Given the description of an element on the screen output the (x, y) to click on. 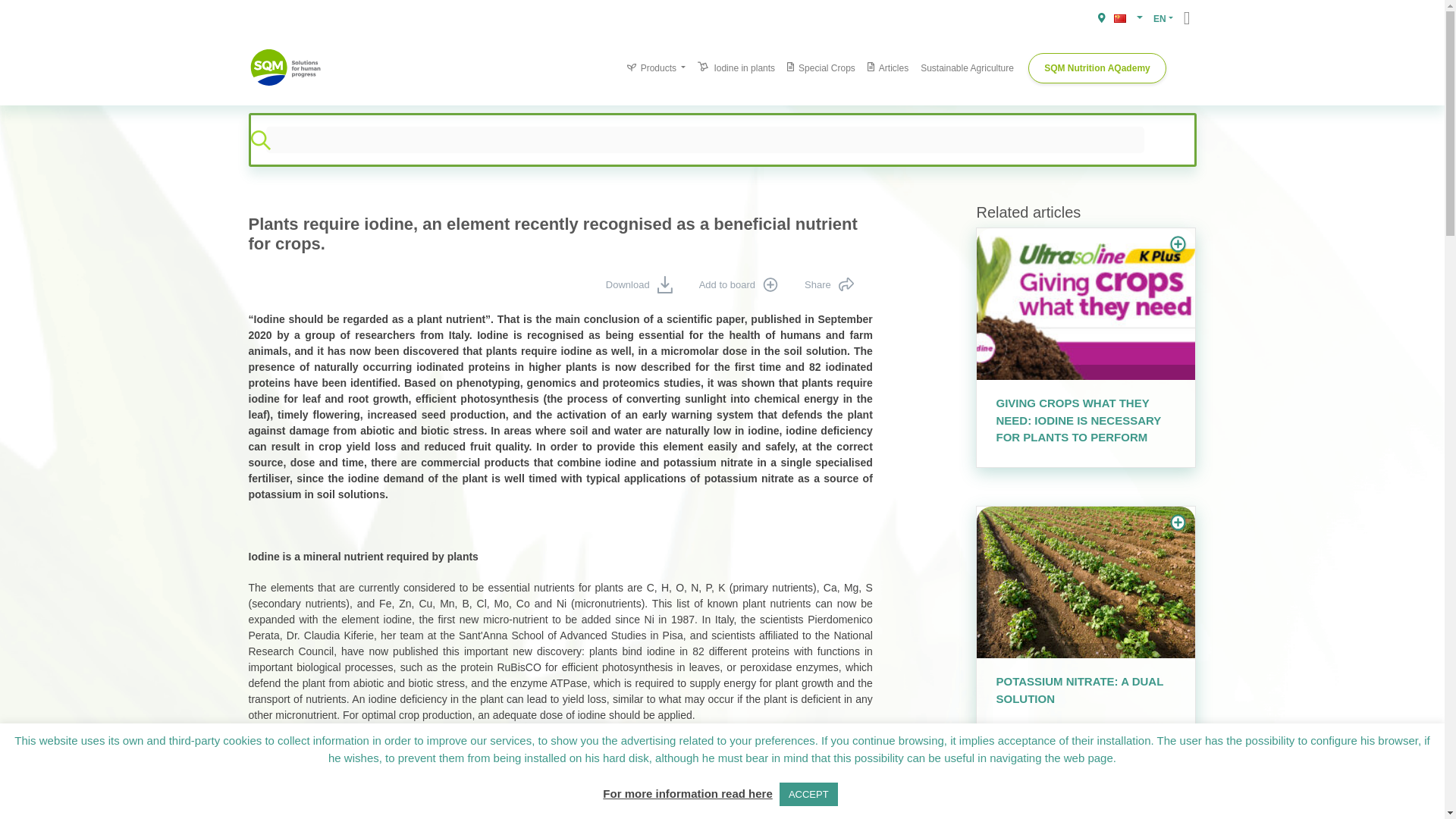
Articles (887, 67)
SQM Nutrition AQademy (1096, 68)
Sustainable Agriculture (967, 67)
Add to board (734, 285)
Special Crops (820, 67)
Products (656, 67)
SQM SPN (286, 66)
Download  (635, 285)
China (1119, 17)
Iodine in plants (736, 67)
